Given the description of an element on the screen output the (x, y) to click on. 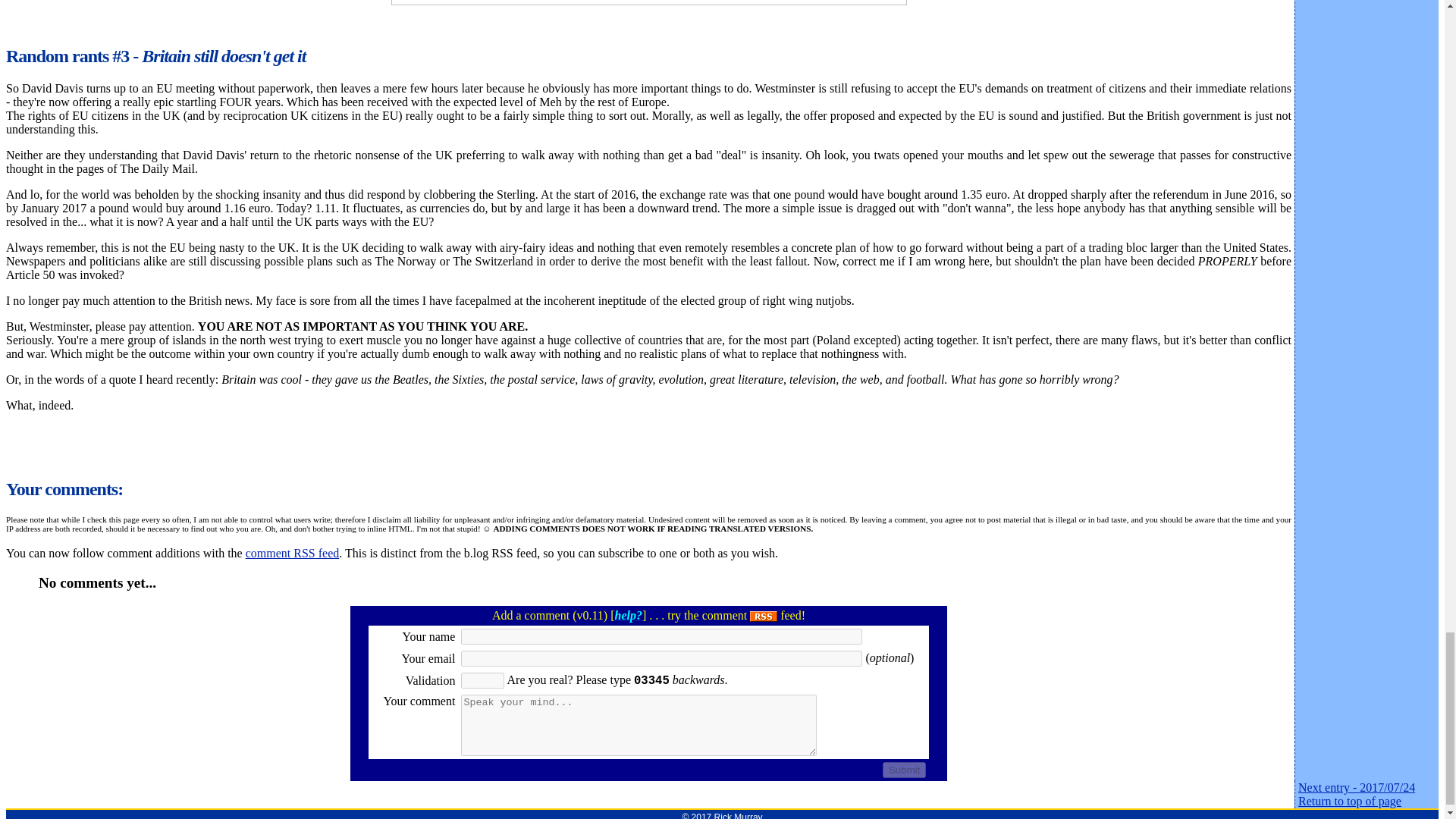
comment RSS feed (292, 553)
Submit (904, 770)
help? (628, 615)
Submit (904, 770)
